Given the description of an element on the screen output the (x, y) to click on. 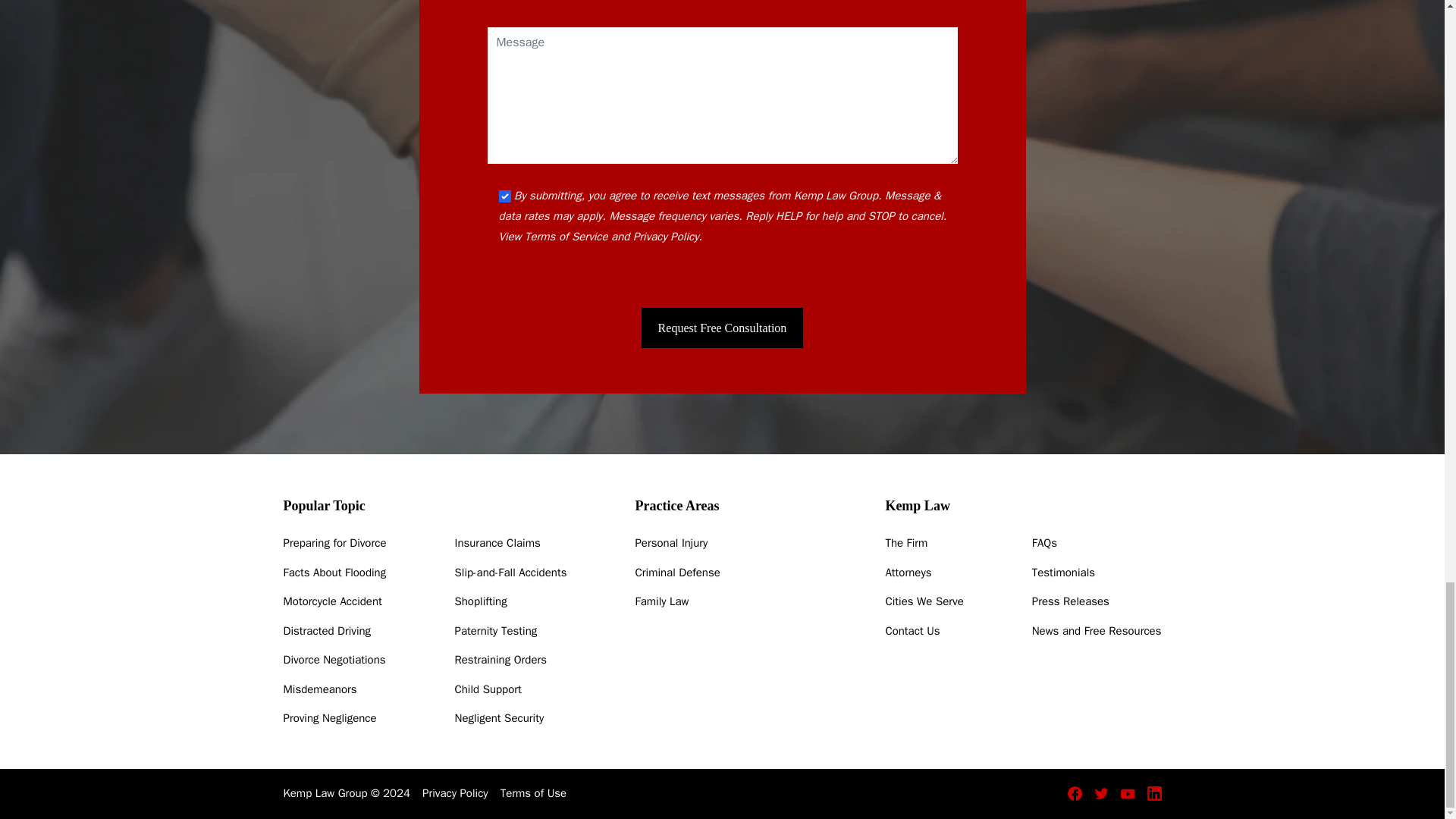
1 (505, 196)
Request Free Consultation (722, 327)
